Given the description of an element on the screen output the (x, y) to click on. 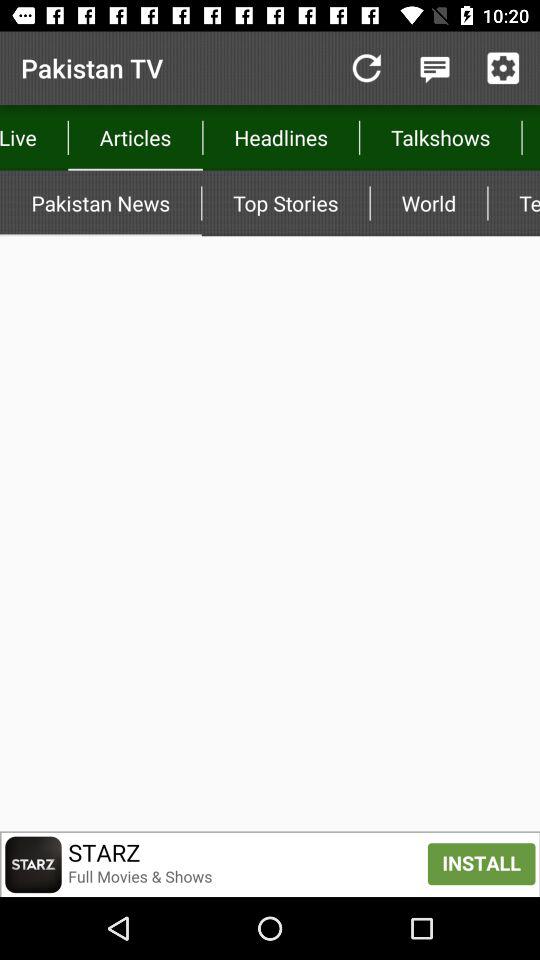
click app to the right of top stories app (428, 203)
